Given the description of an element on the screen output the (x, y) to click on. 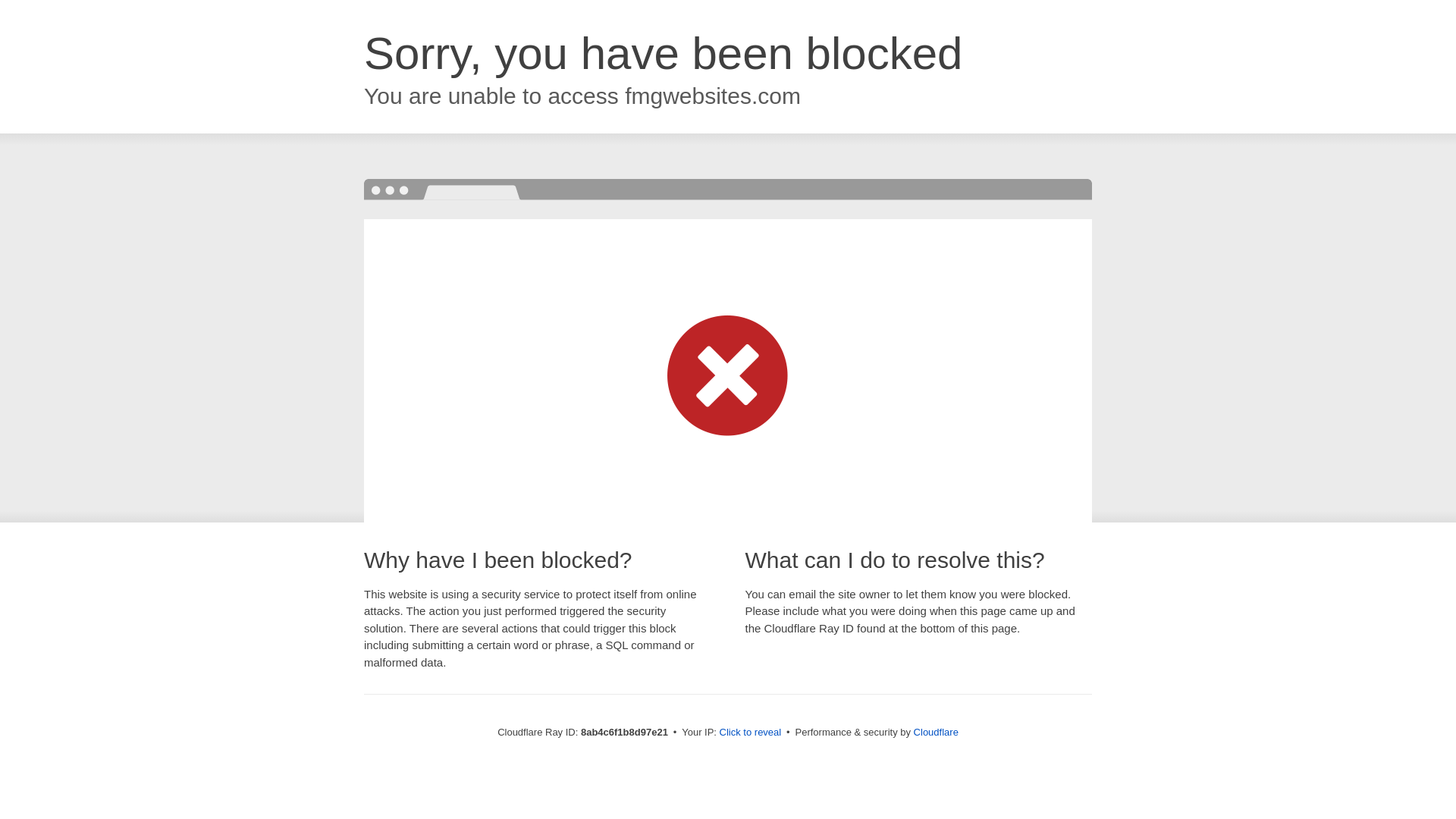
Click to reveal (750, 732)
Cloudflare (936, 731)
